Given the description of an element on the screen output the (x, y) to click on. 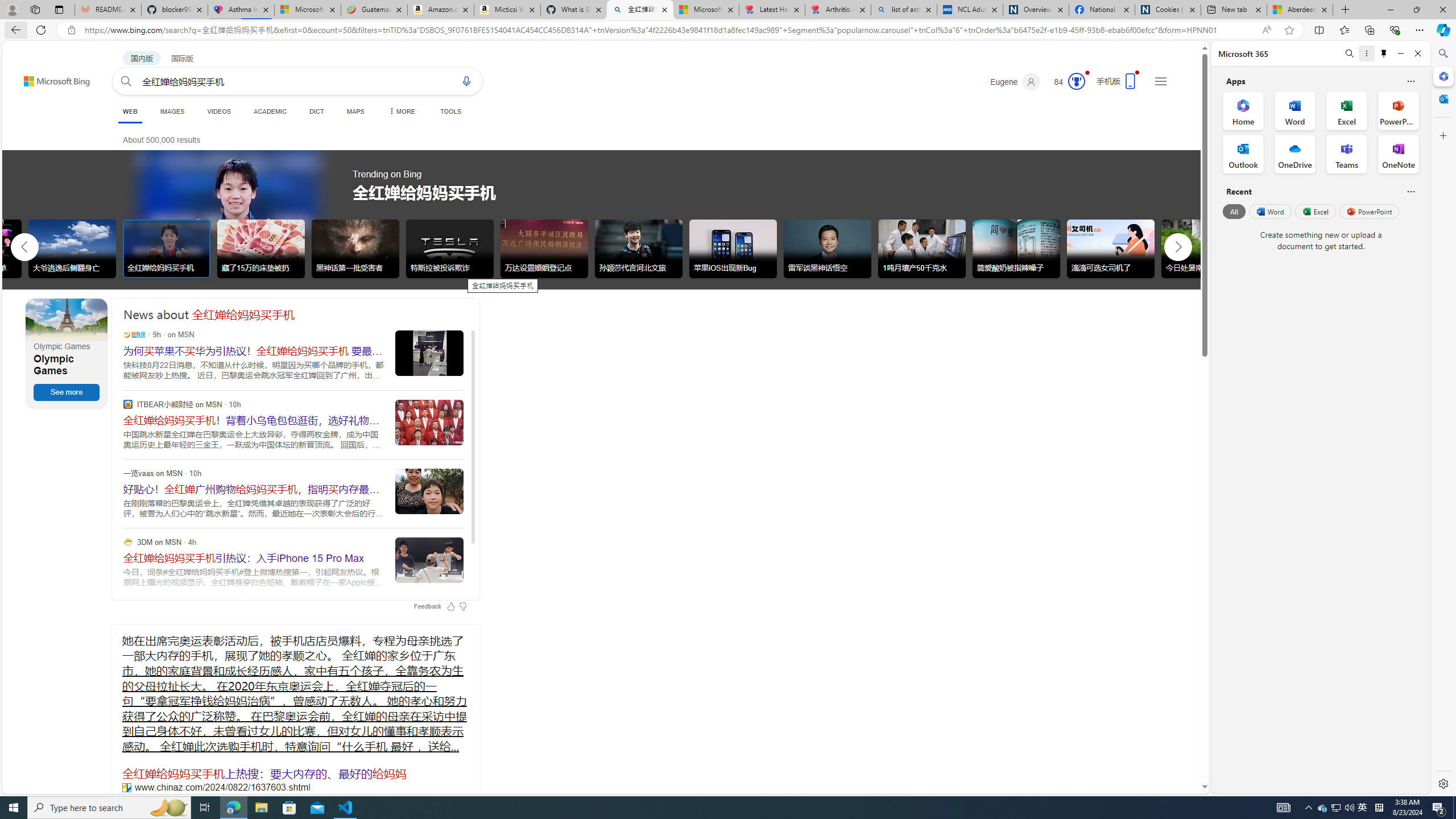
MAPS (355, 111)
AutomationID: tob_right_arrow (1177, 246)
Outlook Office App (1243, 154)
DICT (316, 111)
